Given the description of an element on the screen output the (x, y) to click on. 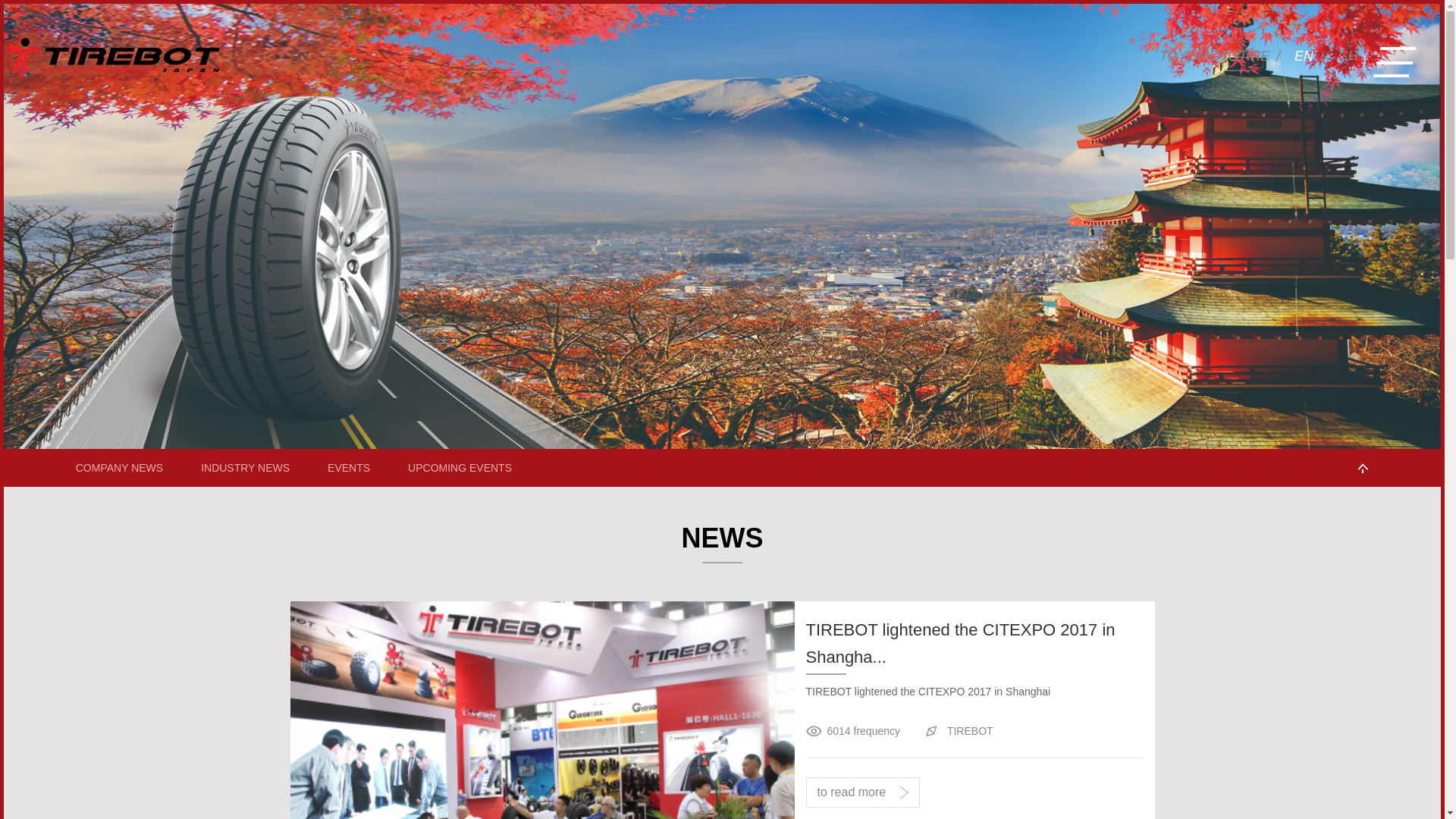
EN Element type: text (1303, 56)
EVENTS Element type: text (348, 467)
COMPANY NEWS Element type: text (119, 467)
TOYOMOTOTIRE Element type: text (1214, 56)
TIREBOT lightened the CITEXPO 2017 in Shangha... Element type: text (973, 645)
INDUSTRY NEWS Element type: text (244, 467)
to read more Element type: text (862, 792)
CH Element type: text (1348, 56)
UPCOMING EVENTS Element type: text (459, 467)
